Given the description of an element on the screen output the (x, y) to click on. 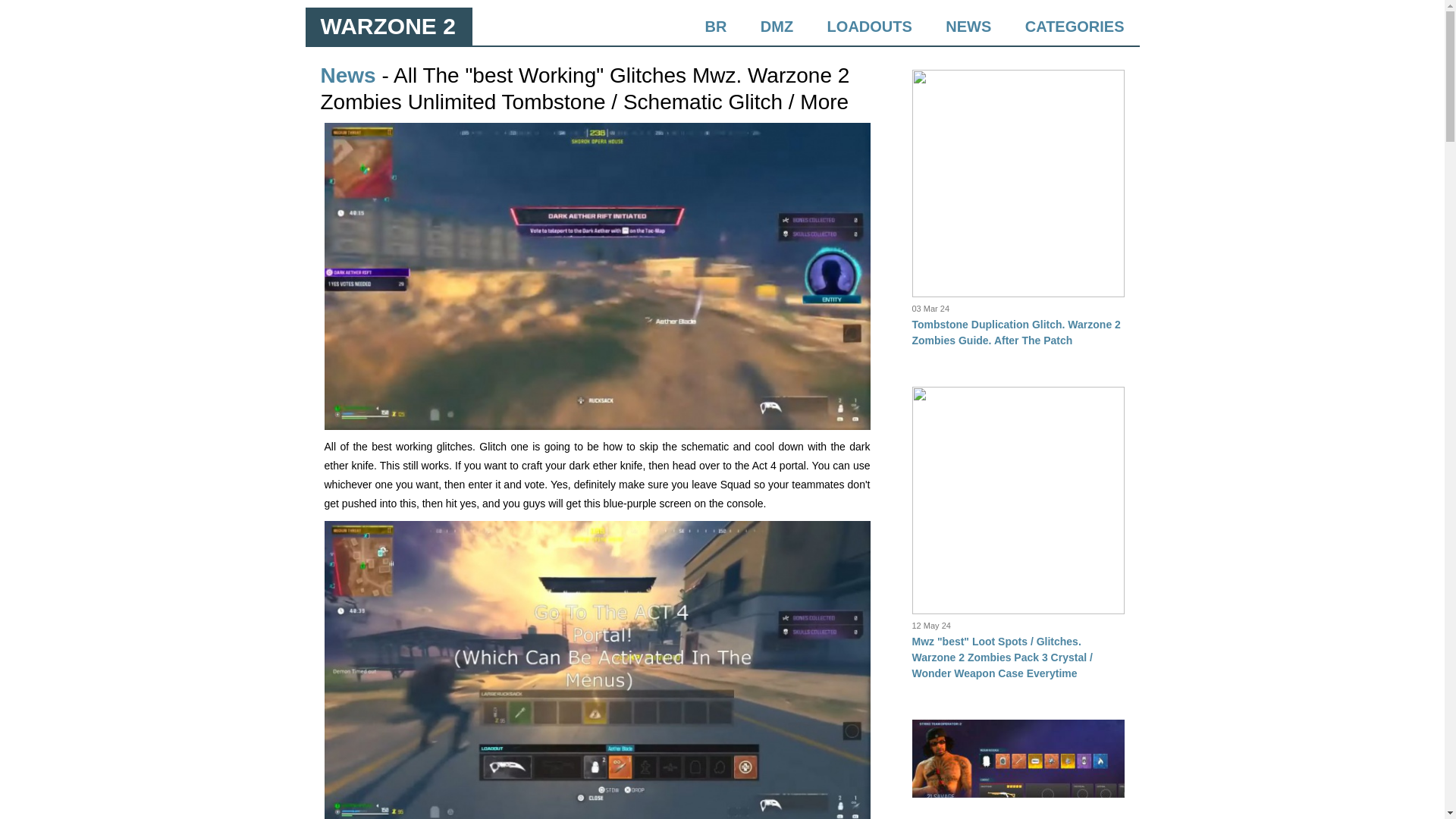
NEWS (967, 26)
CATEGORIES (1074, 26)
News (347, 74)
DMZ (776, 26)
BR (715, 26)
WARZONE 2 (387, 26)
LOADOUTS (869, 26)
